Given the description of an element on the screen output the (x, y) to click on. 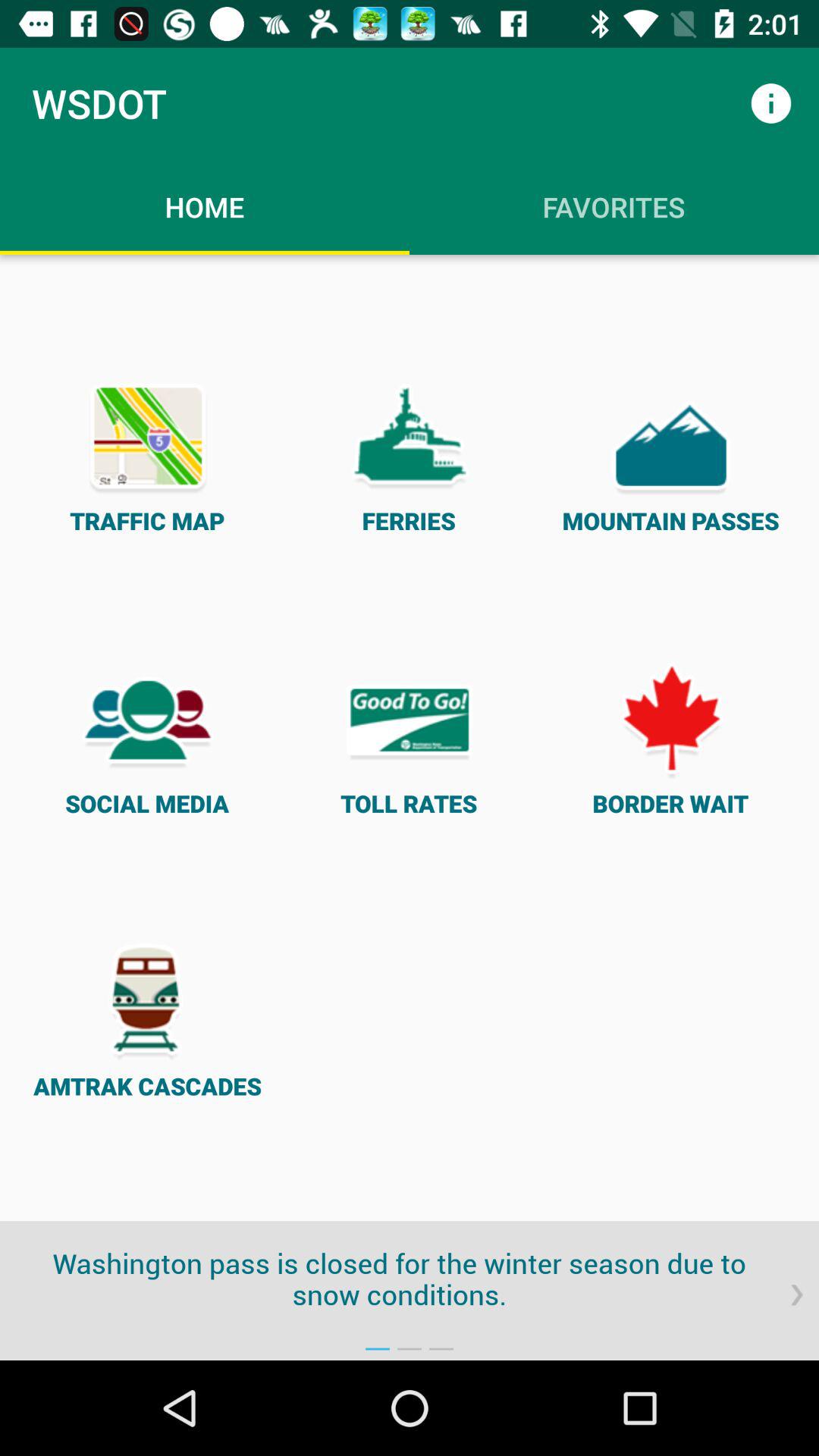
tap social media icon (147, 737)
